Given the description of an element on the screen output the (x, y) to click on. 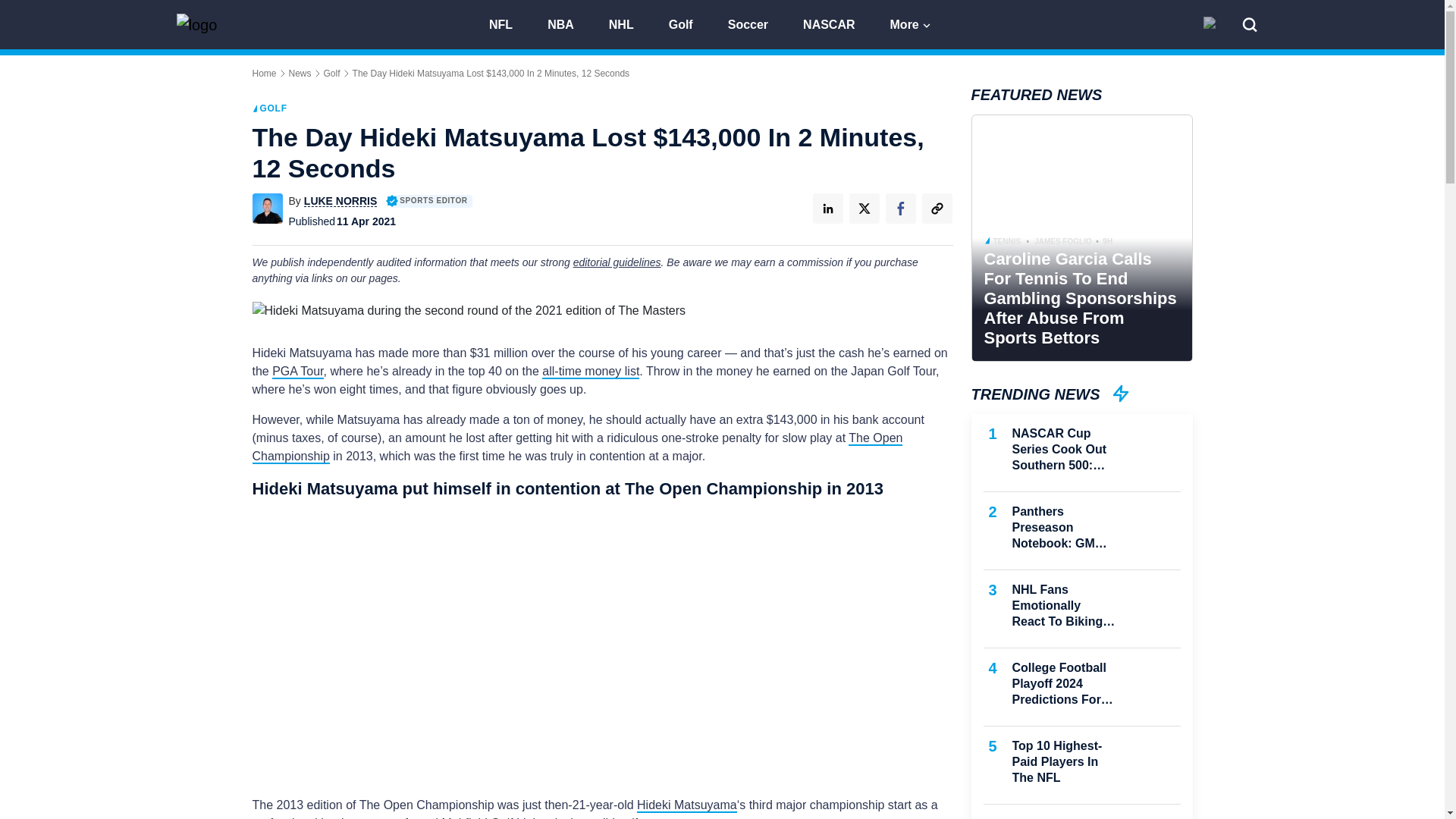
Golf (687, 22)
Golf (331, 72)
Soccer (754, 22)
NHL (628, 22)
News (299, 72)
NFL (508, 22)
Home (263, 72)
NASCAR (835, 22)
More (911, 22)
NBA (567, 22)
